Given the description of an element on the screen output the (x, y) to click on. 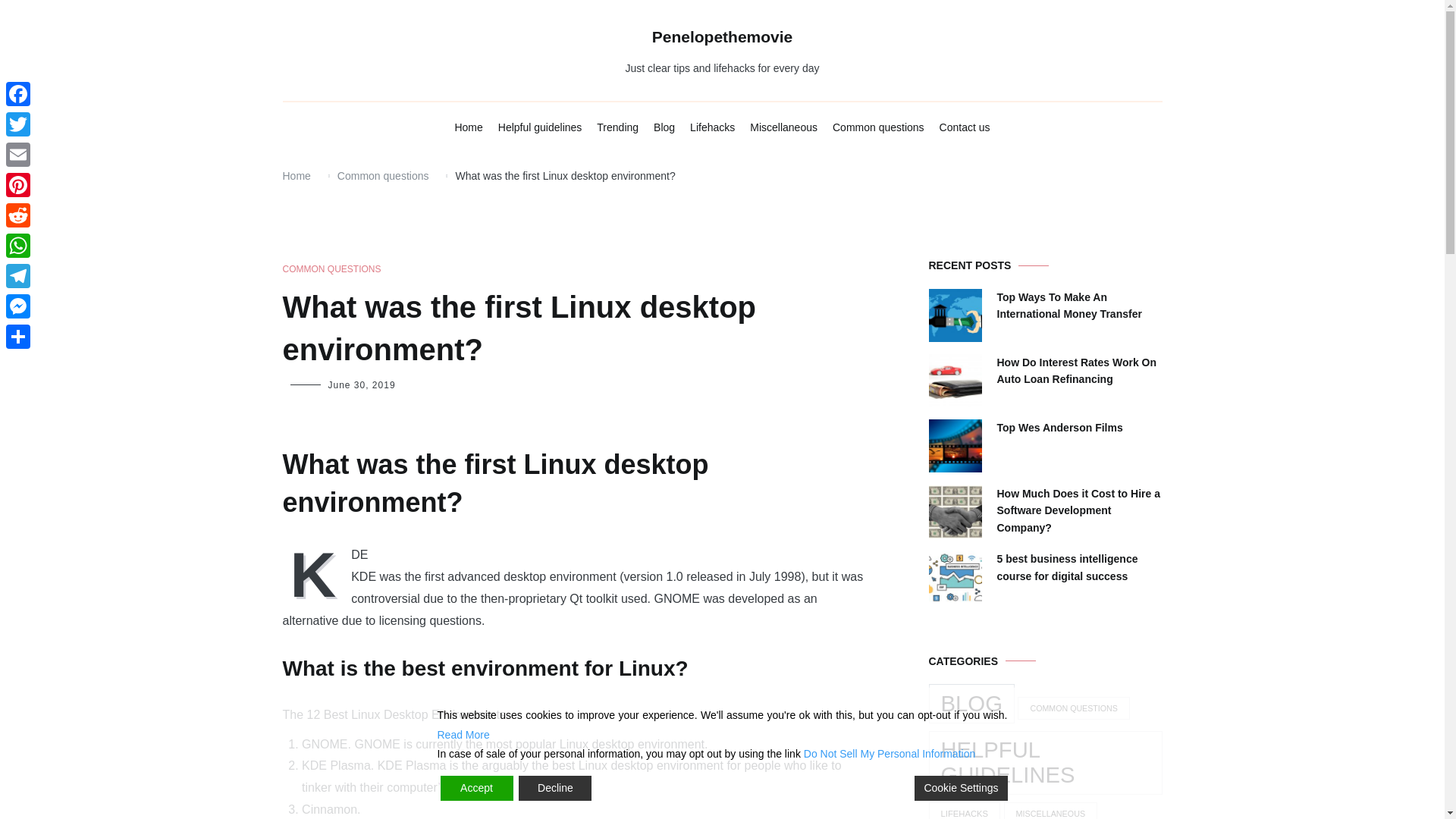
Trending (617, 127)
Penelopethemovie (722, 36)
Messenger (17, 306)
5 best business intelligence course for digital success (1078, 567)
Contact us (964, 127)
Reddit (17, 214)
Top Wes Anderson Films (1058, 427)
WhatsApp (17, 245)
Email (17, 154)
Common questions (878, 127)
